Given the description of an element on the screen output the (x, y) to click on. 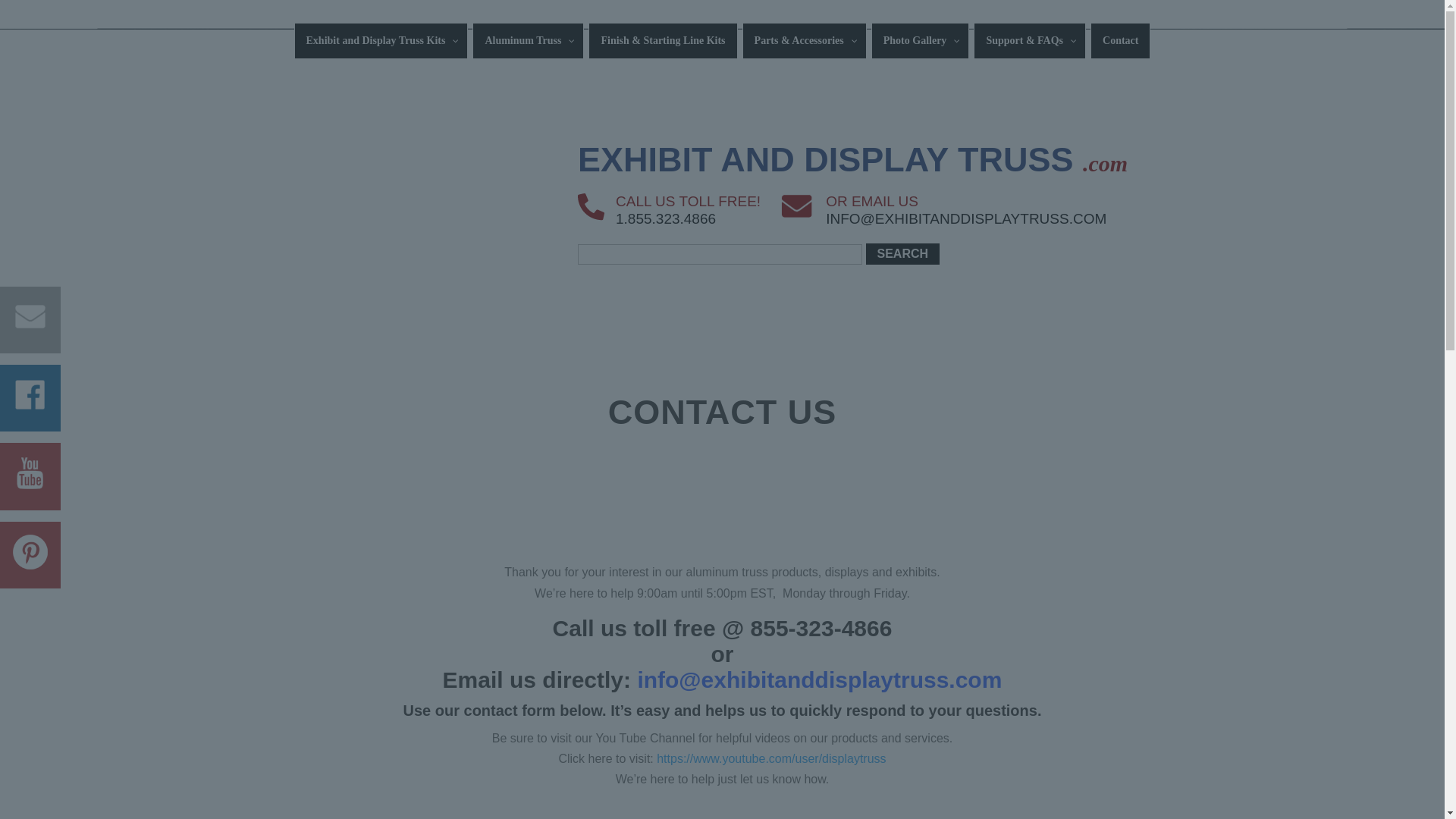
Exhibit and Display Truss Kits (381, 40)
Search (903, 253)
Search (903, 253)
EXHIBIT AND DISPLAY TRUSS .com (852, 159)
1.855.323.4866 (665, 218)
Aluminum Truss (528, 40)
